Given the description of an element on the screen output the (x, y) to click on. 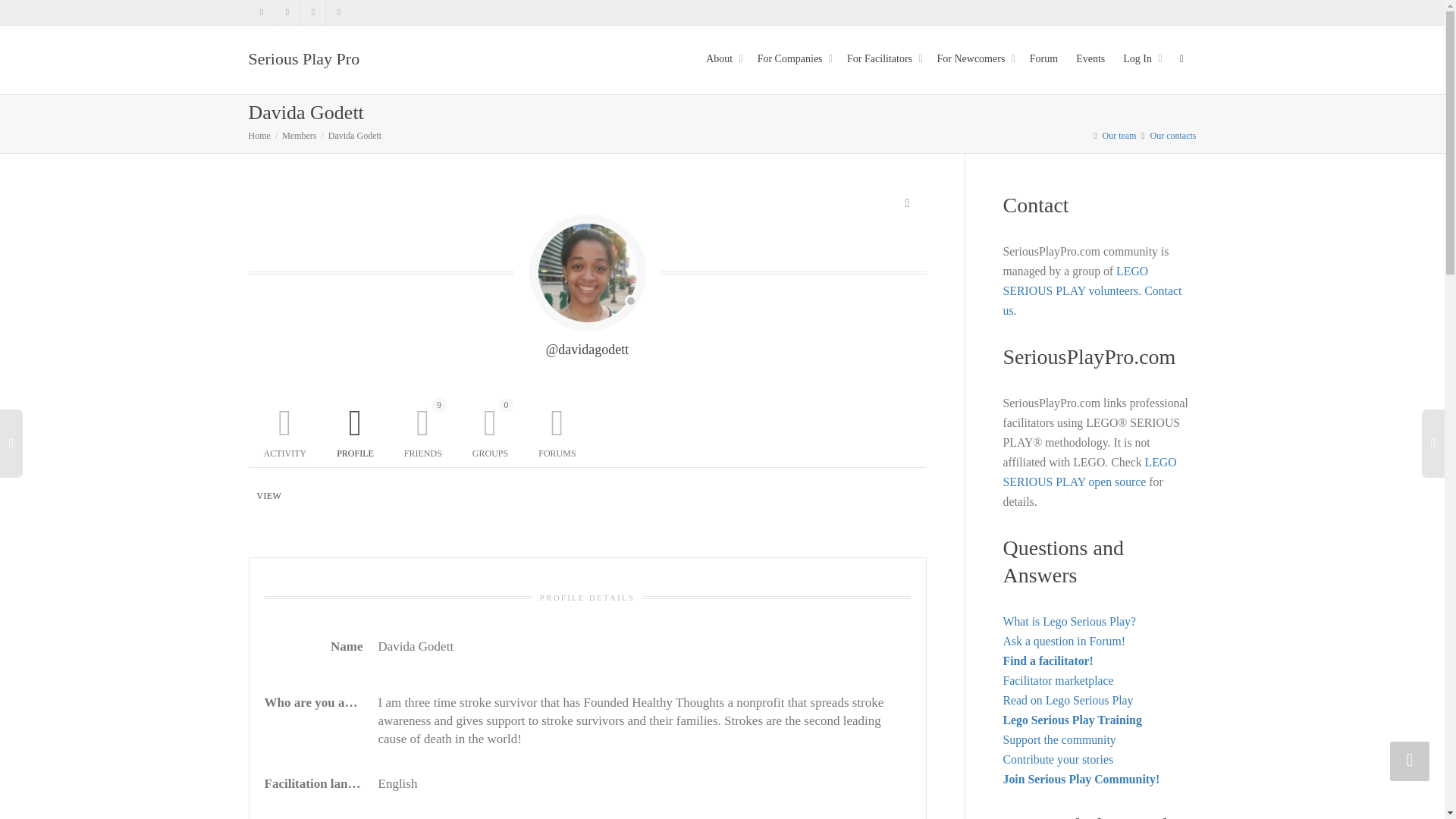
For Facilitators (882, 58)
Members (298, 135)
Our team (1119, 135)
Our contacts (1173, 135)
Serious Play Pro (303, 58)
Davida Godett (355, 135)
For Facilitators (882, 58)
Home (259, 135)
For Companies (792, 58)
For Newcomers (974, 58)
For Companies (792, 58)
